Given the description of an element on the screen output the (x, y) to click on. 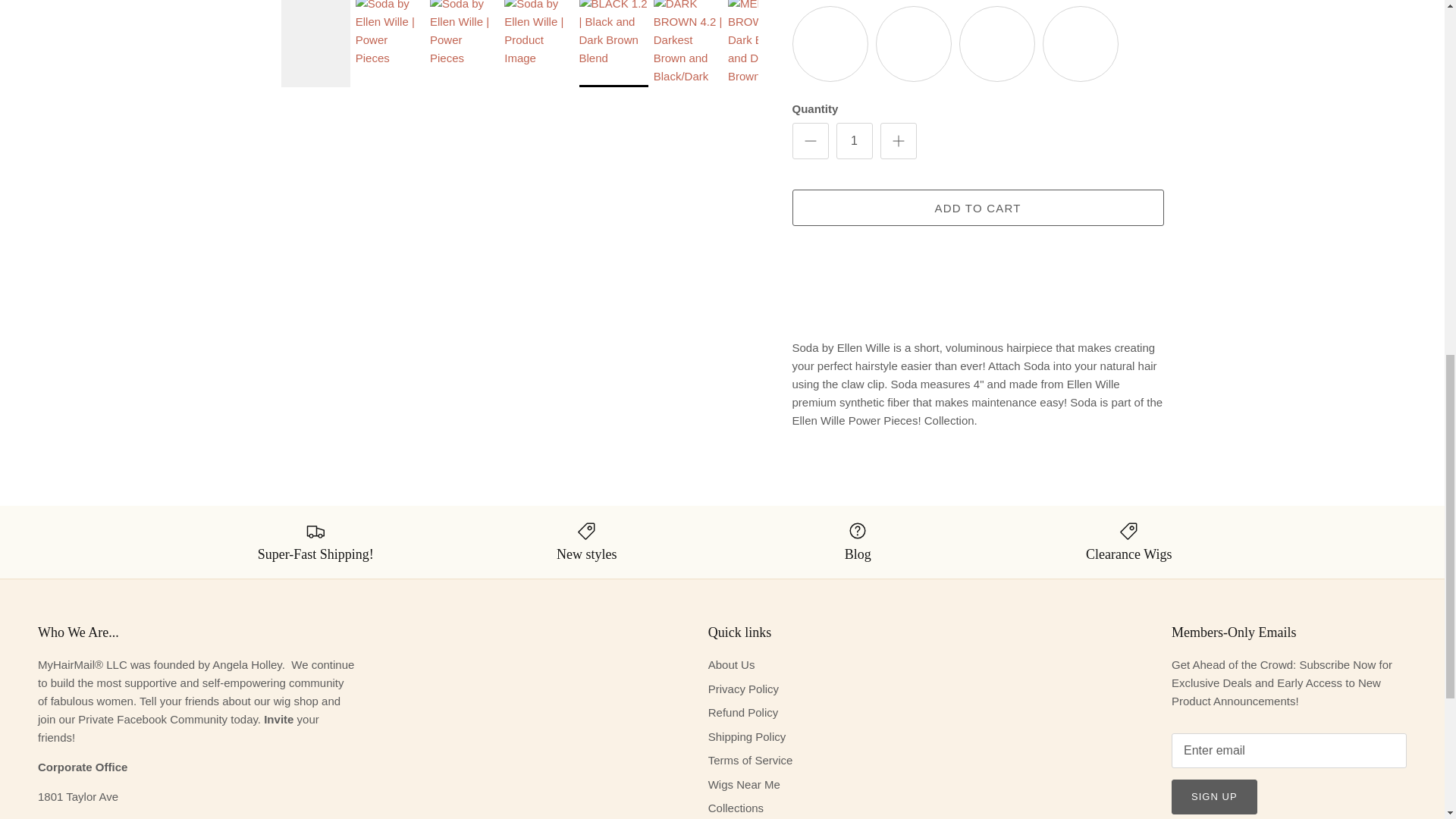
MyHairMail Refer a Friend (278, 718)
Plus (897, 140)
Minus (809, 140)
1 (853, 140)
